Given the description of an element on the screen output the (x, y) to click on. 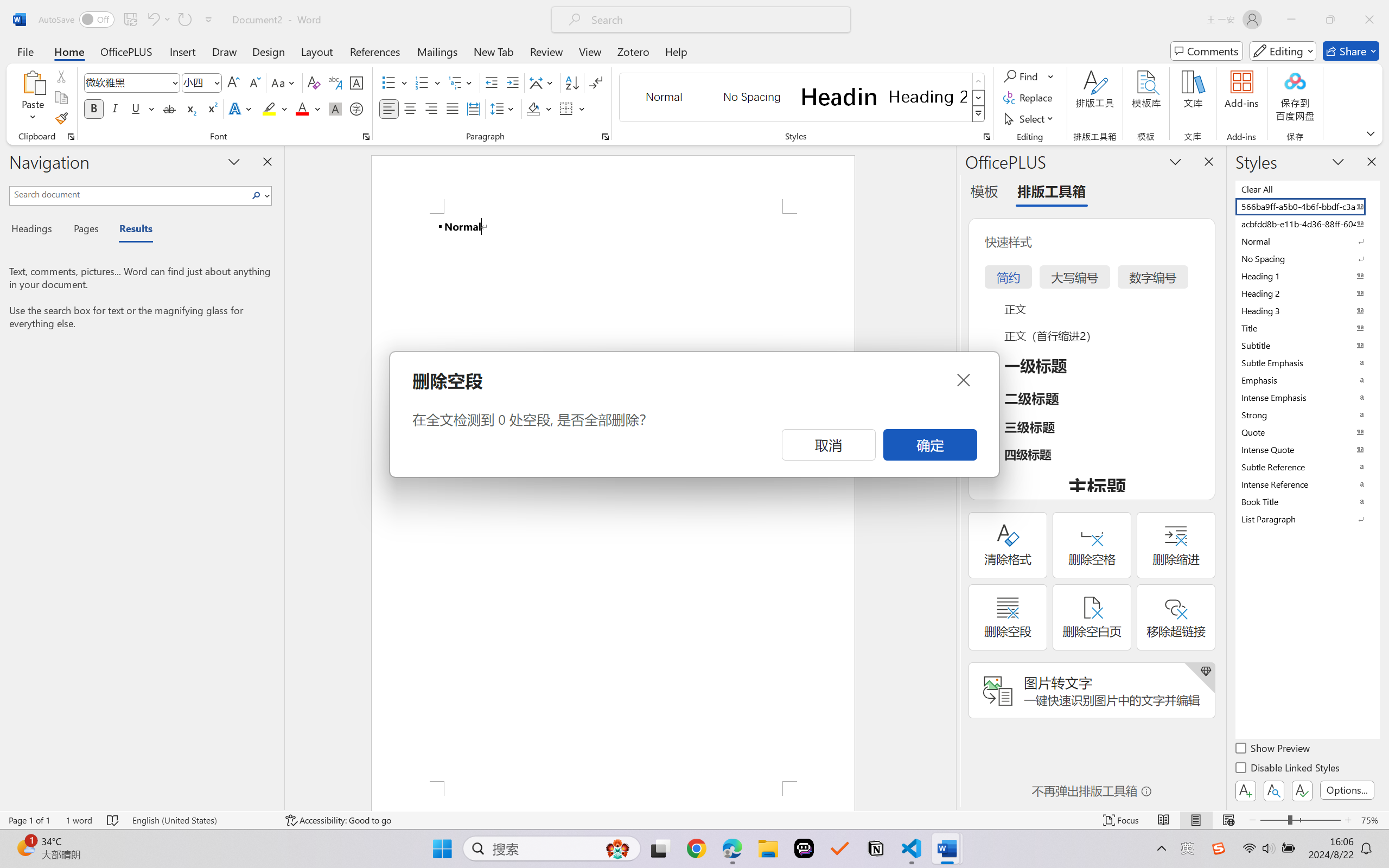
Underline (135, 108)
Increase Indent (512, 82)
Font (126, 82)
Microsoft search (715, 19)
Zoom Out (1273, 819)
Google Chrome (696, 848)
AutoSave (76, 19)
AutomationID: DynamicSearchBoxGleamImage (617, 848)
Copy (60, 97)
Design (268, 51)
Book Title (1306, 501)
Row up (978, 81)
